Given the description of an element on the screen output the (x, y) to click on. 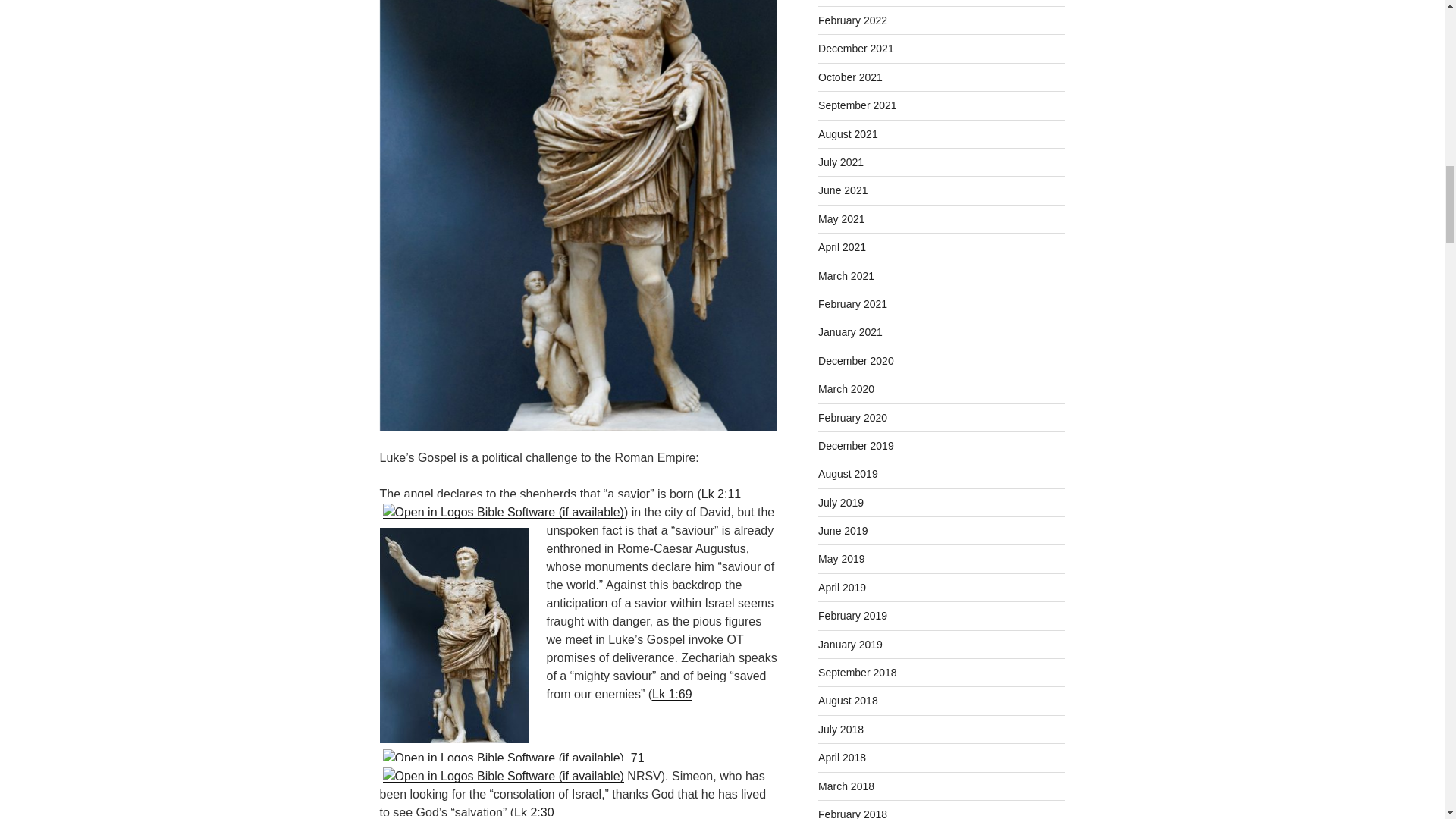
Lk 1:69 (671, 693)
Lk 2:30 (533, 811)
Lk 2:11 (721, 492)
71 (637, 757)
